Given the description of an element on the screen output the (x, y) to click on. 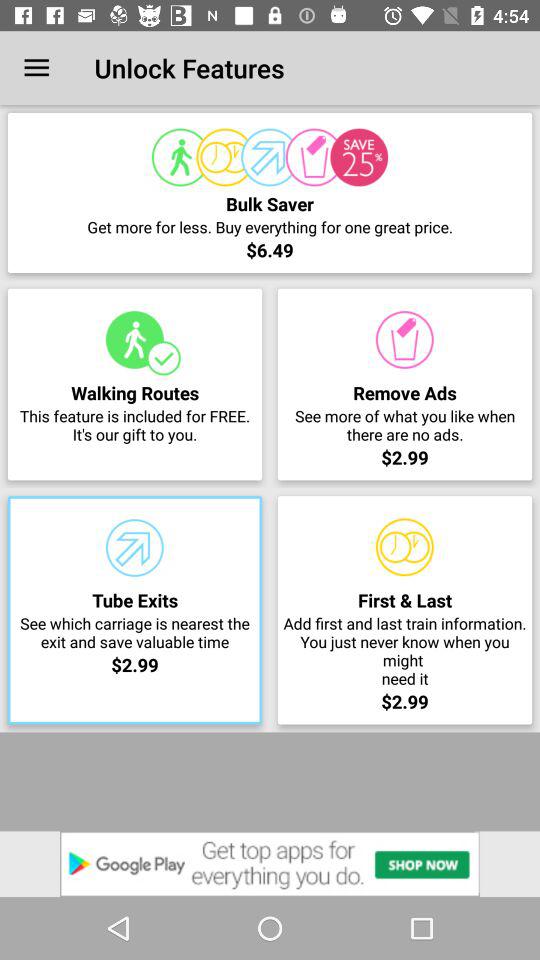
select the item below the $2.99 item (270, 863)
